Given the description of an element on the screen output the (x, y) to click on. 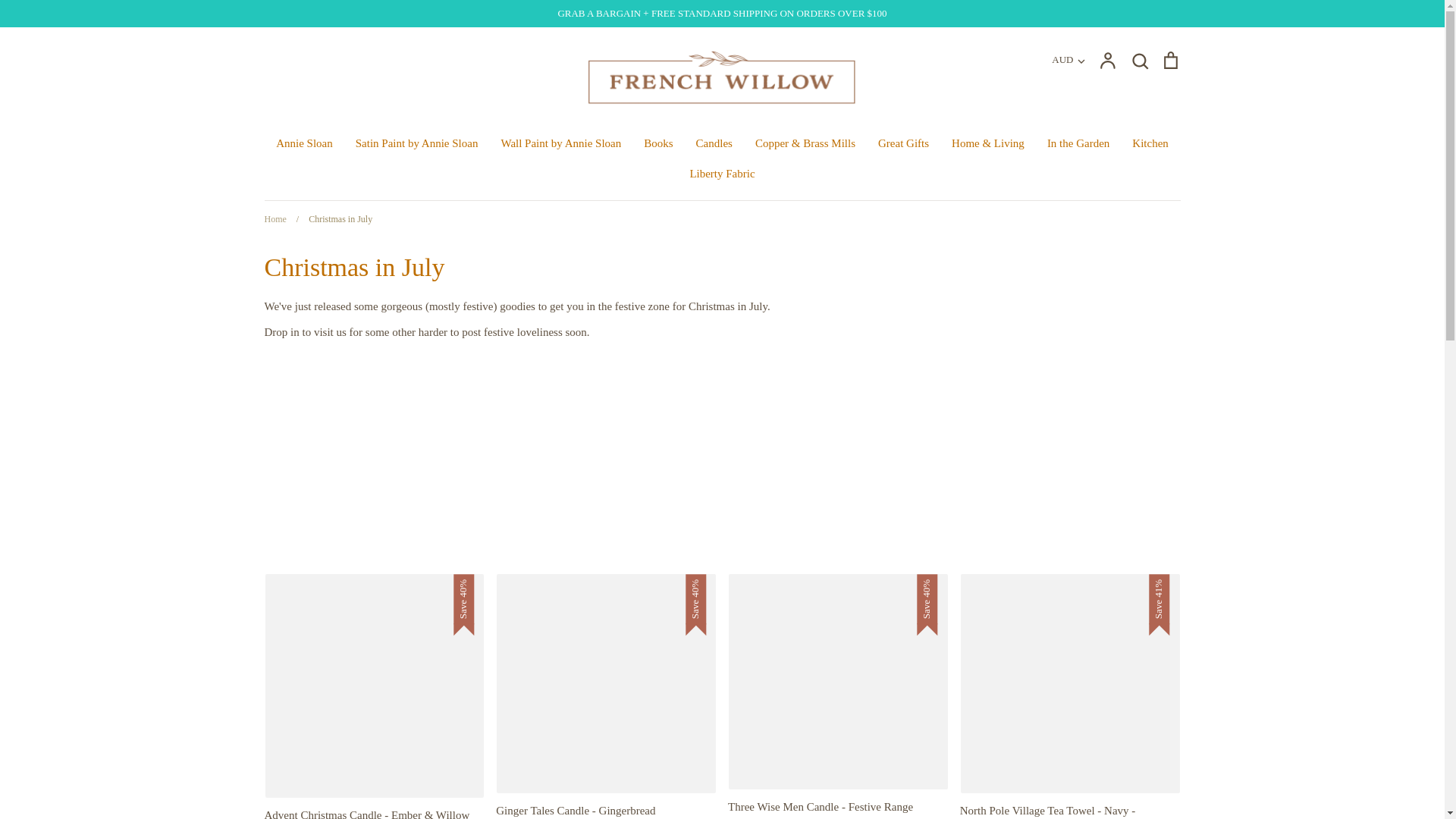
Cart (1169, 59)
Annie Sloan (304, 143)
Search (1139, 59)
Account (1107, 59)
